Given the description of an element on the screen output the (x, y) to click on. 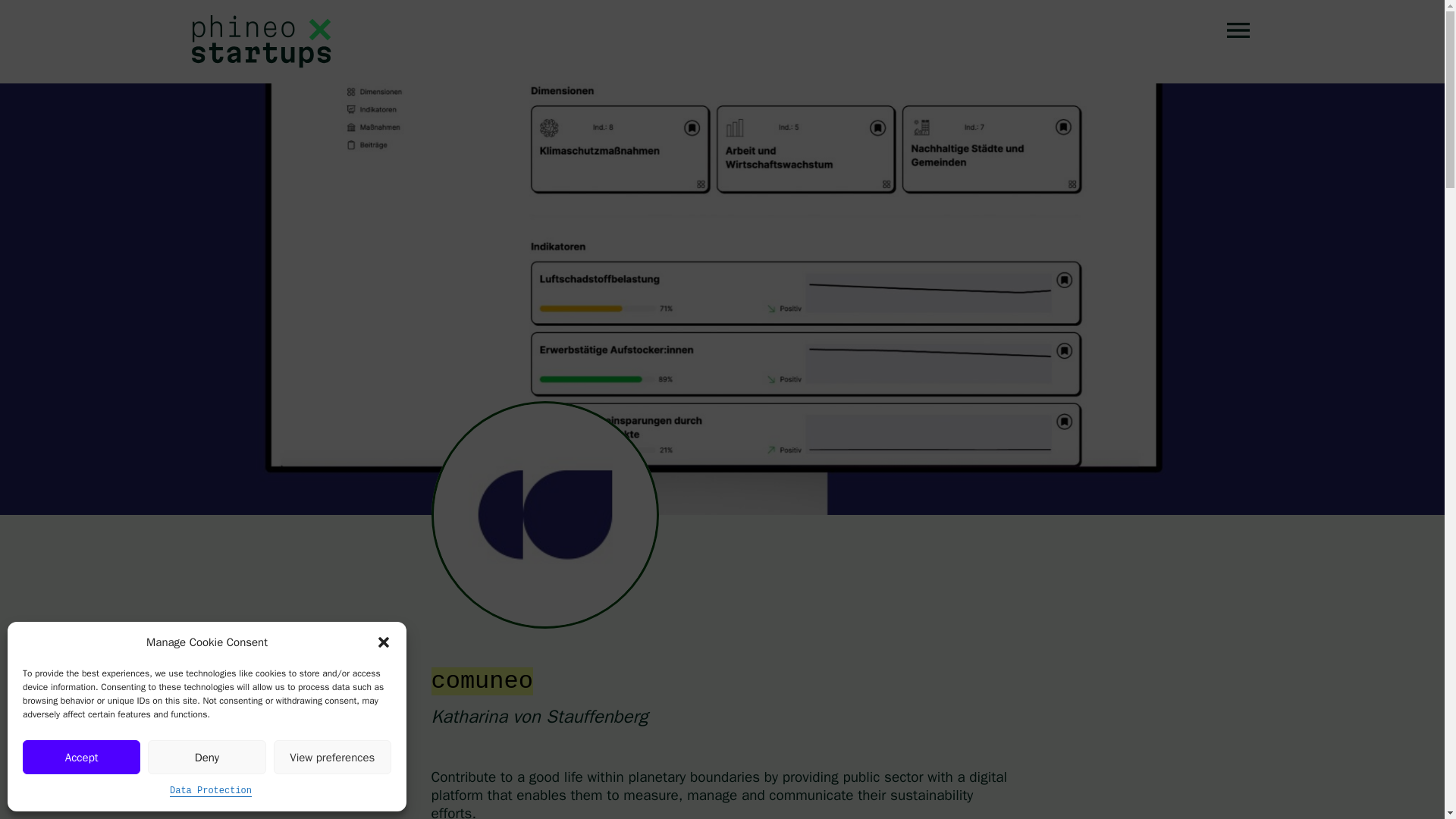
View preferences (332, 756)
Deny (206, 756)
Accept (81, 756)
